Given the description of an element on the screen output the (x, y) to click on. 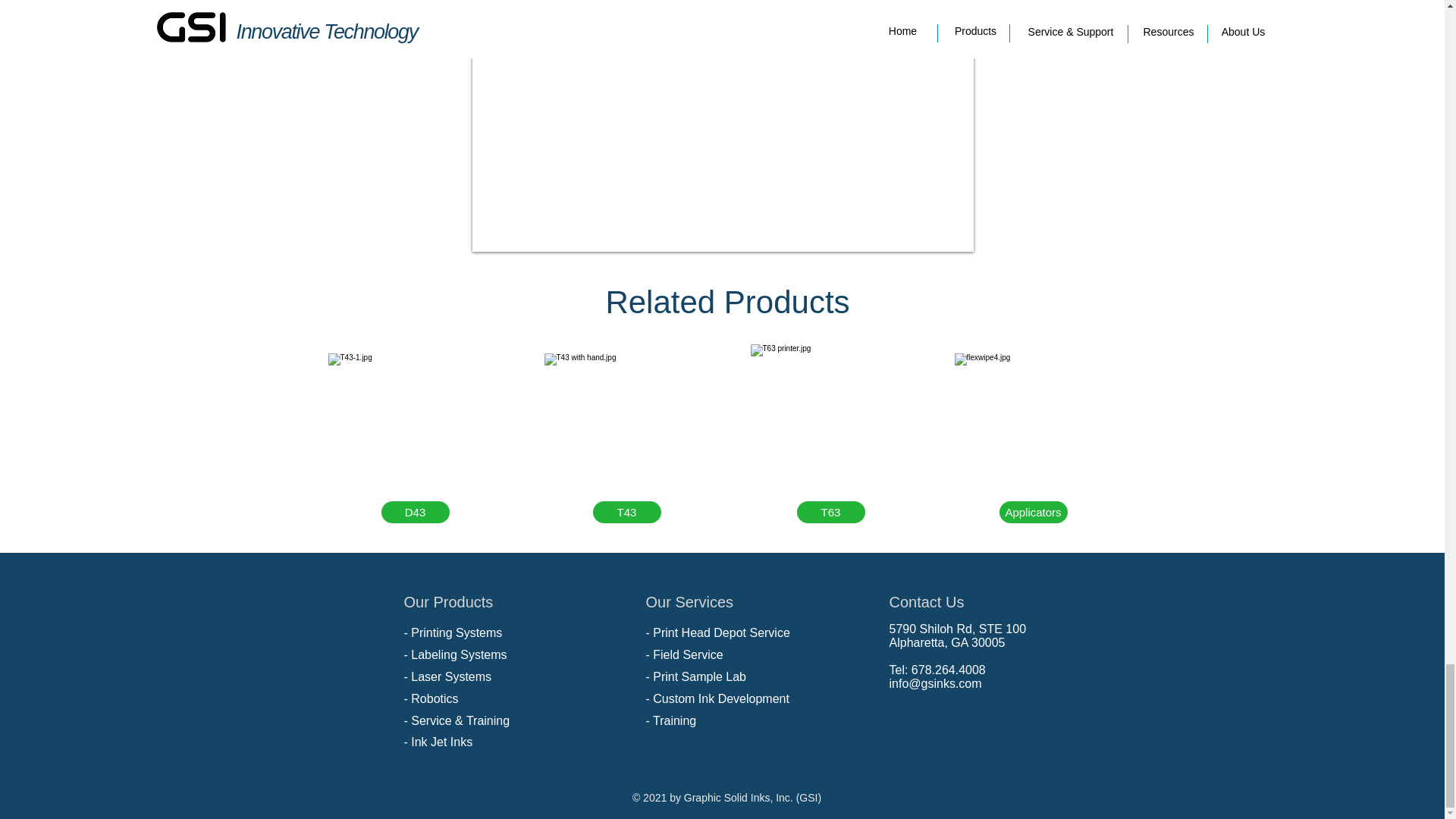
Applicators (1032, 512)
T43 (626, 512)
D43 (414, 512)
T63 (830, 512)
